Given the description of an element on the screen output the (x, y) to click on. 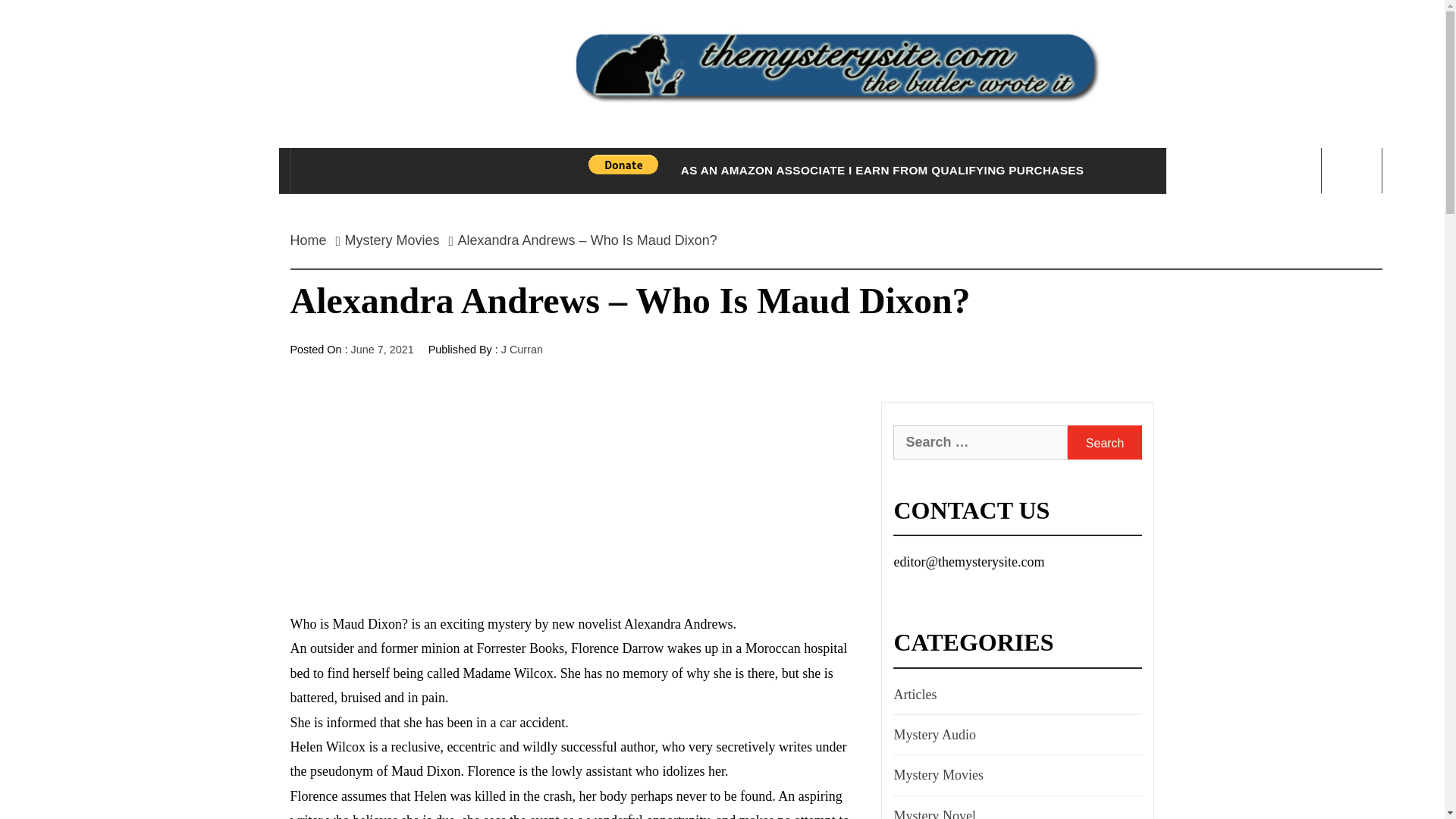
Mystery Movies (392, 240)
Mystery Novel (932, 811)
AS AN AMAZON ASSOCIATE I EARN FROM QUALIFYING PURCHASES (881, 170)
Search (1104, 442)
J Curran (521, 349)
Search (1104, 442)
Search (797, 37)
Articles (912, 694)
Search (1104, 442)
Mystery Audio (932, 734)
Mystery Movies (936, 774)
June 7, 2021 (381, 349)
Home (311, 240)
PayPal - The safer, easier way to pay online! (623, 164)
THE MYSTERY SITE (835, 166)
